Given the description of an element on the screen output the (x, y) to click on. 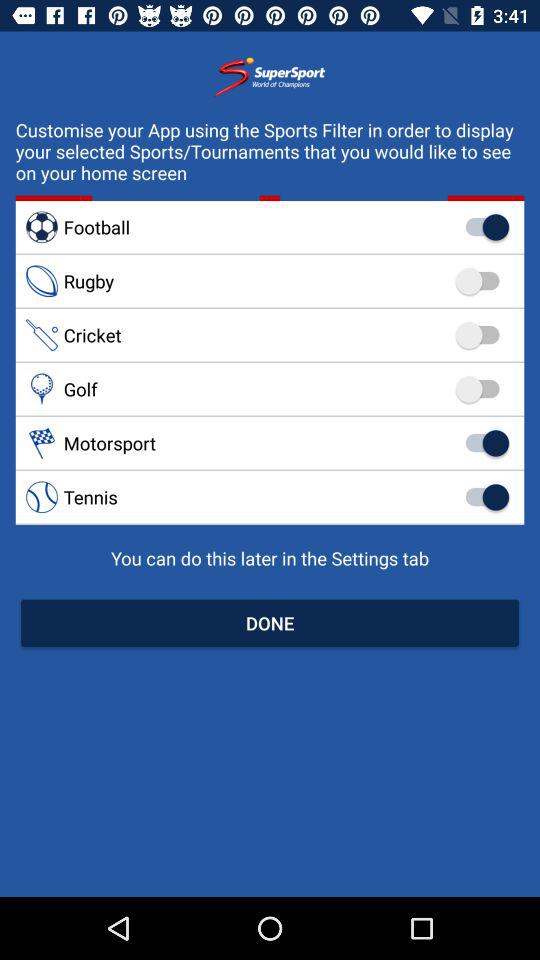
flip to rugby (269, 281)
